Given the description of an element on the screen output the (x, y) to click on. 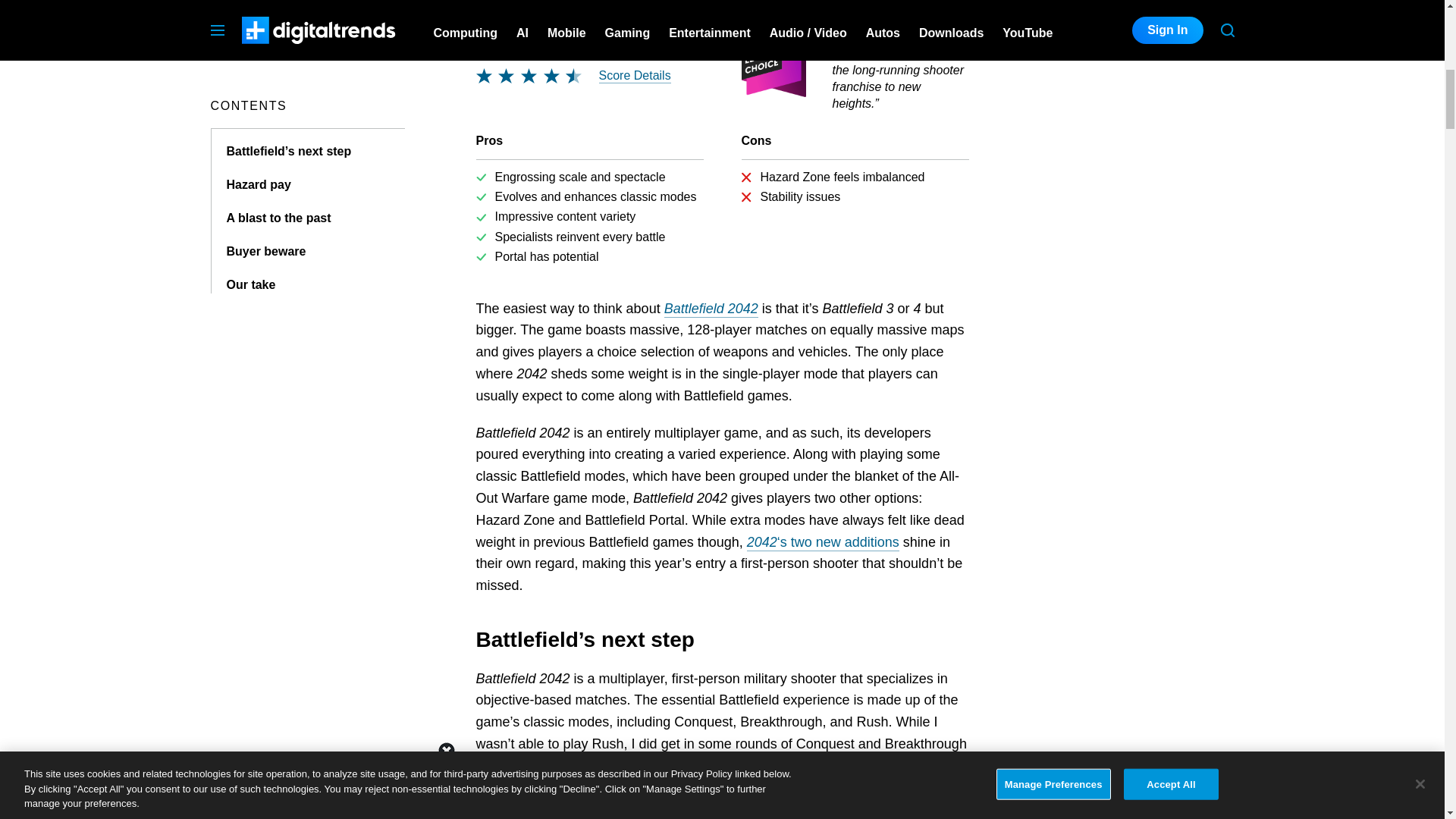
3rd party ad content (1120, 55)
